Given the description of an element on the screen output the (x, y) to click on. 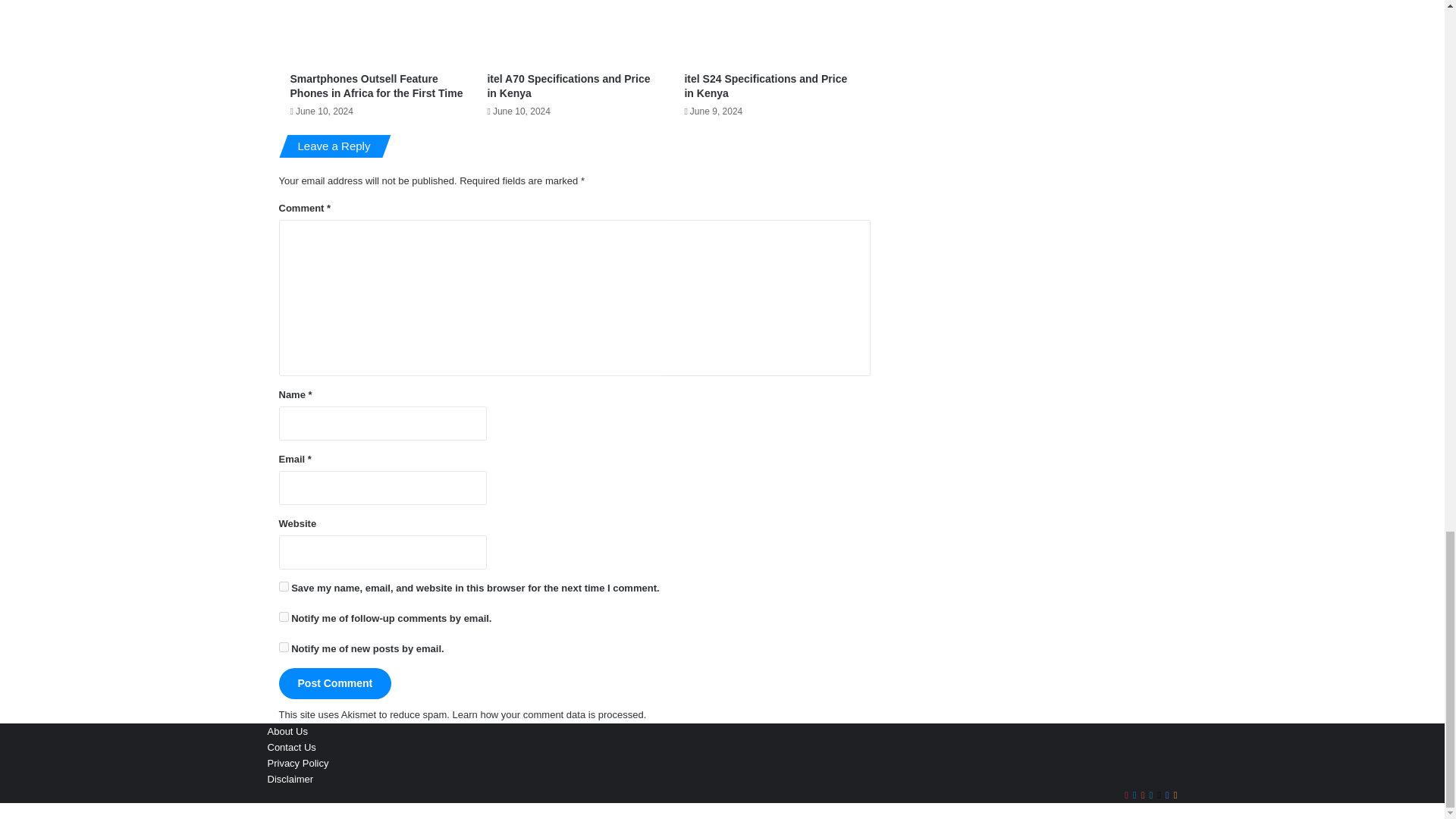
yes (283, 586)
subscribe (283, 616)
Post Comment (335, 683)
subscribe (283, 646)
